Given the description of an element on the screen output the (x, y) to click on. 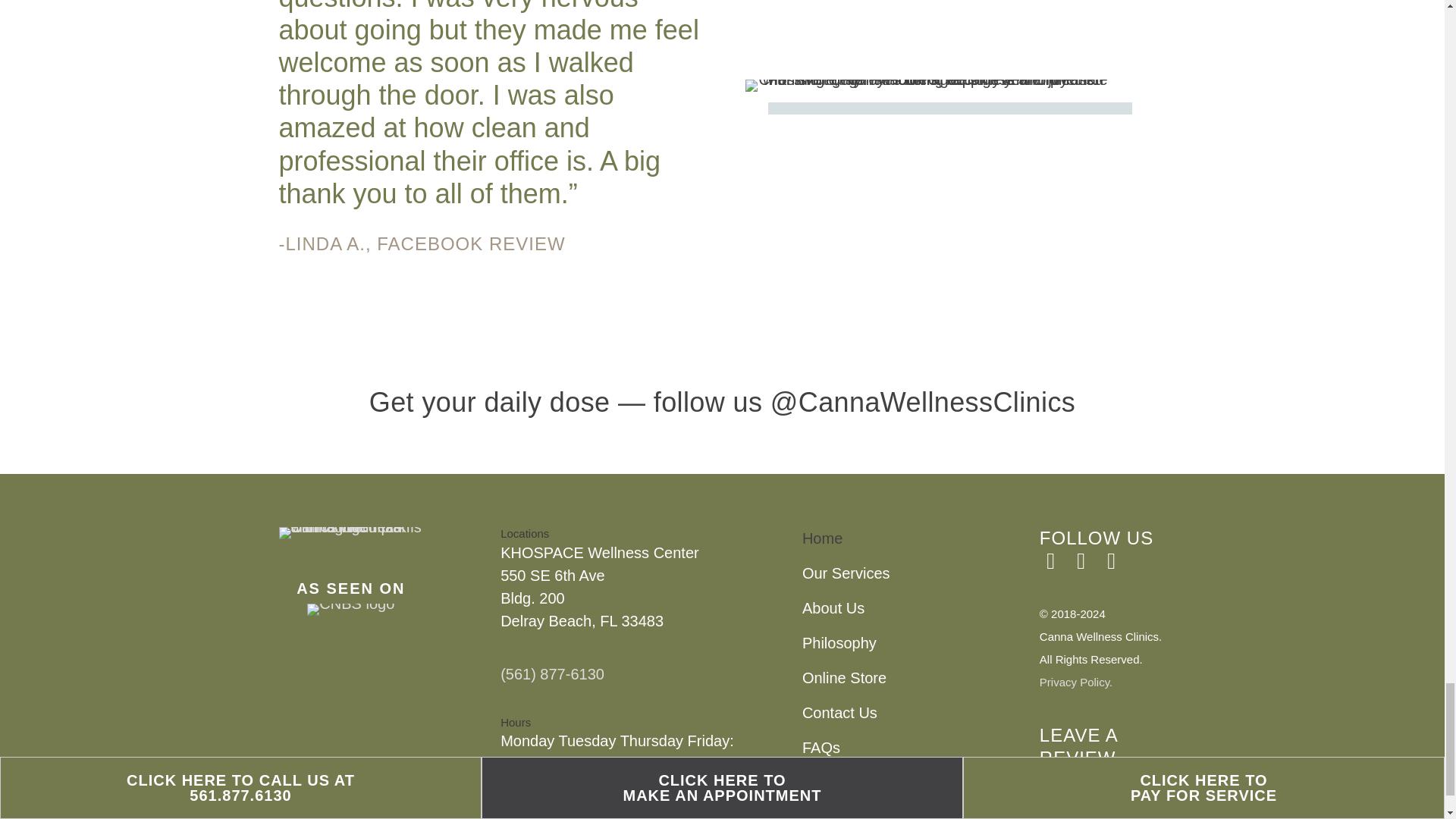
AS SEEN ON (350, 588)
